Given the description of an element on the screen output the (x, y) to click on. 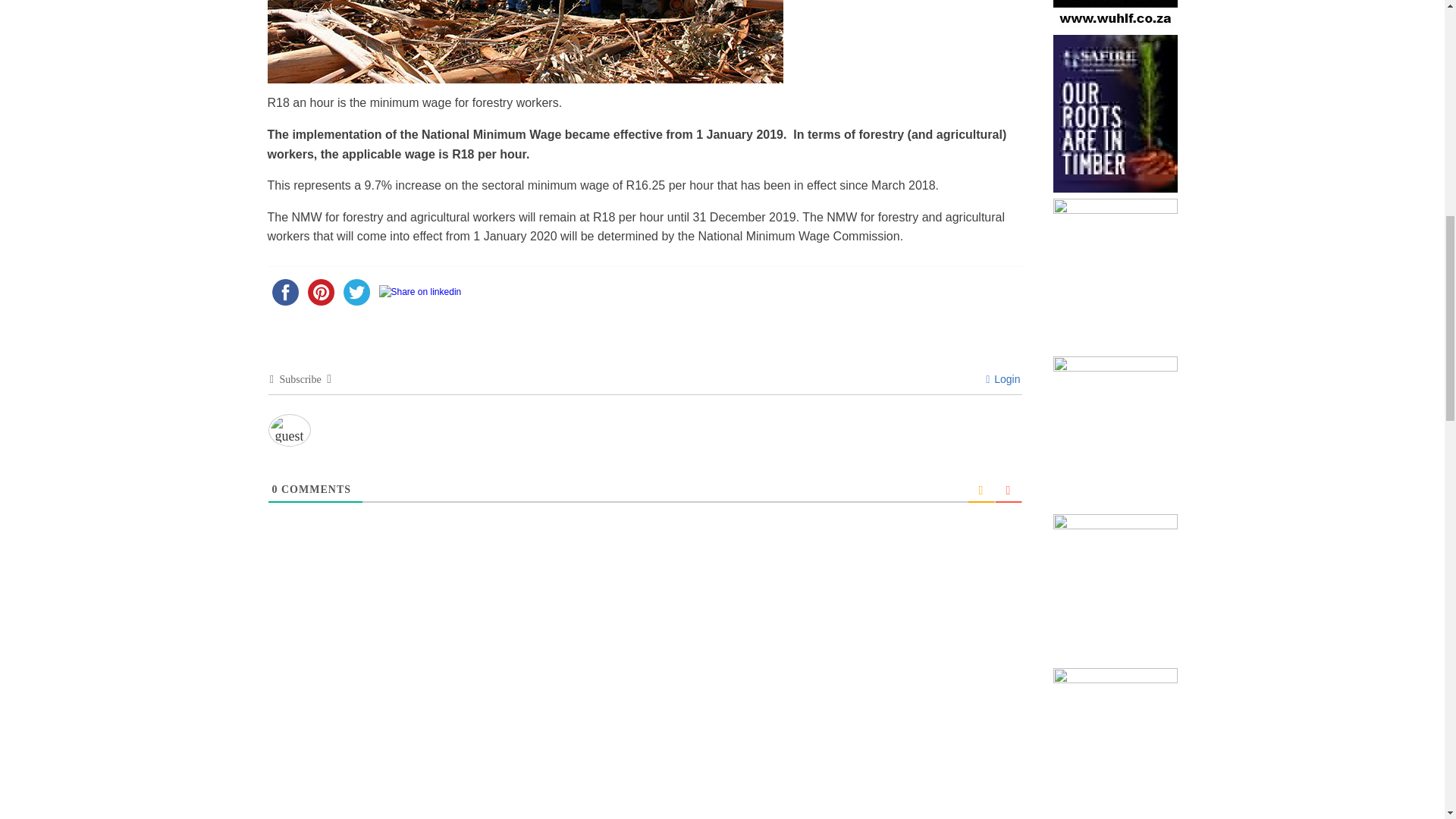
linkedin (419, 291)
pinterest (320, 292)
facebook (284, 292)
twitter (355, 292)
